Given the description of an element on the screen output the (x, y) to click on. 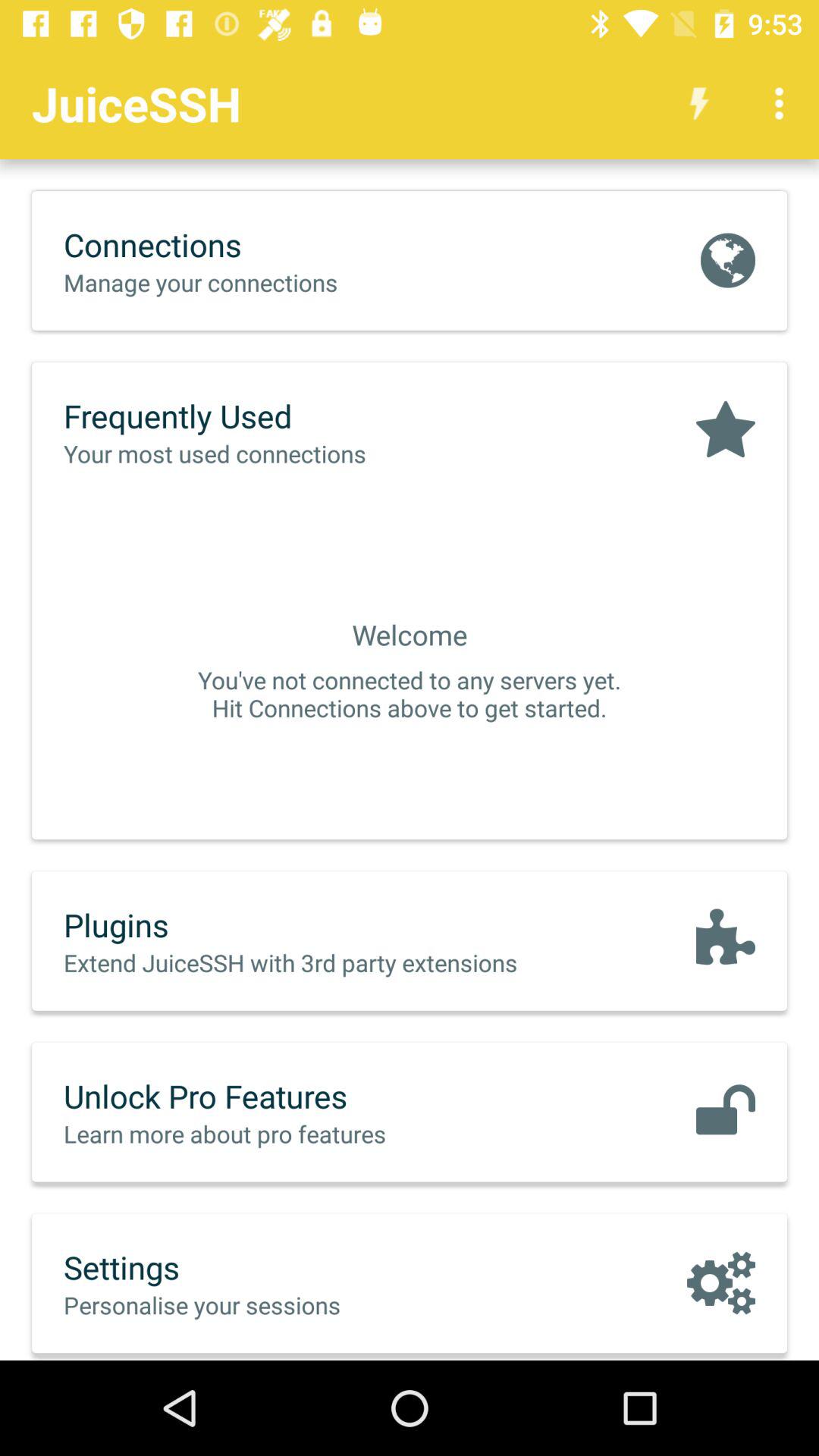
press the item below plugins icon (322, 962)
